Given the description of an element on the screen output the (x, y) to click on. 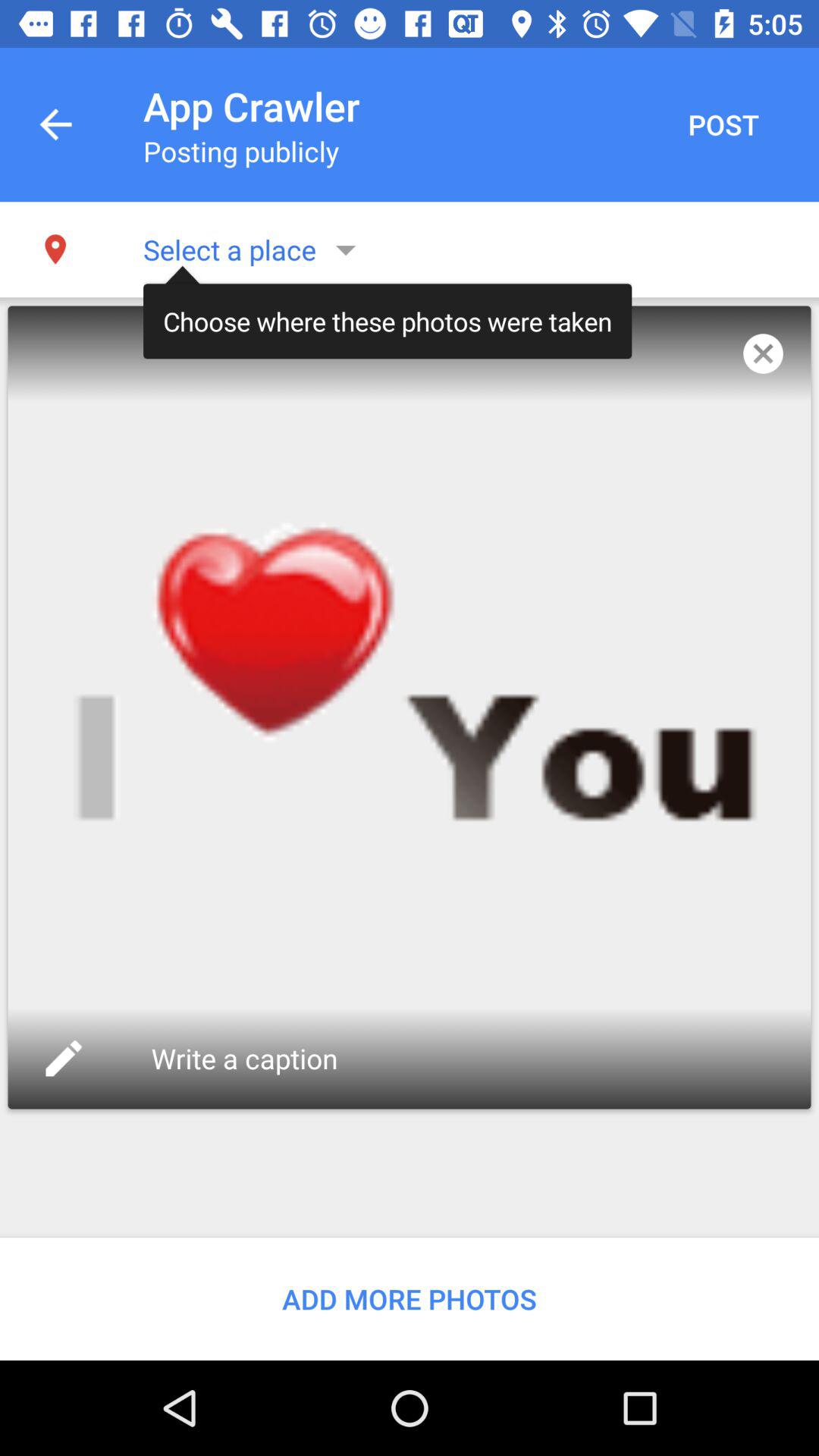
select app next to app crawler icon (55, 124)
